Given the description of an element on the screen output the (x, y) to click on. 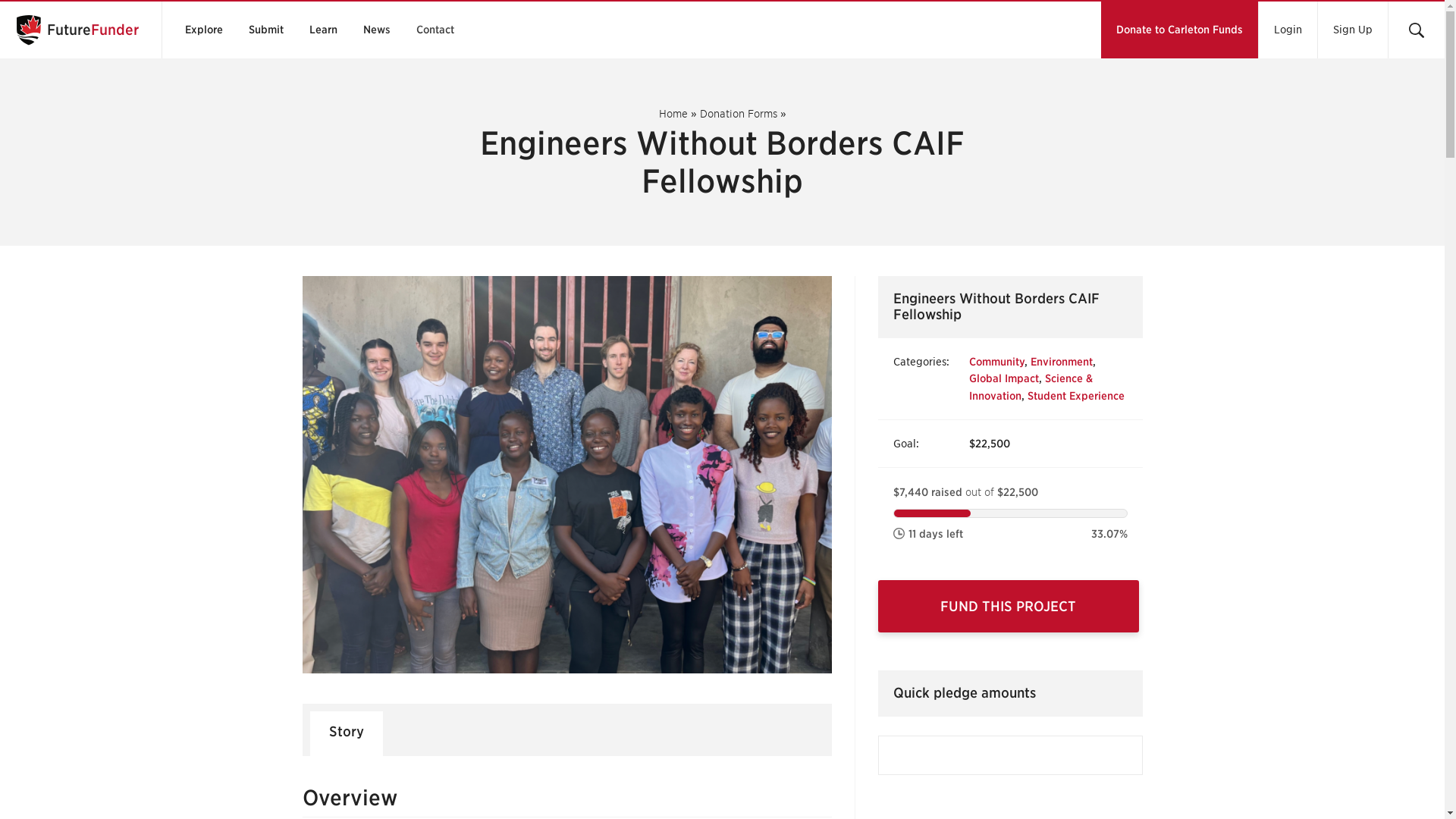
FutureFunder (74, 30)
Sign Up (1352, 29)
Contact (434, 29)
Community (997, 361)
Donation Forms (737, 113)
Environment (1060, 361)
Explore (203, 29)
... More (435, 0)
Story (344, 733)
Submit (266, 29)
FUND THIS PROJECT (1007, 605)
Login (1287, 29)
Student Experience (1075, 395)
Learn (323, 29)
Global Impact (1004, 378)
